Given the description of an element on the screen output the (x, y) to click on. 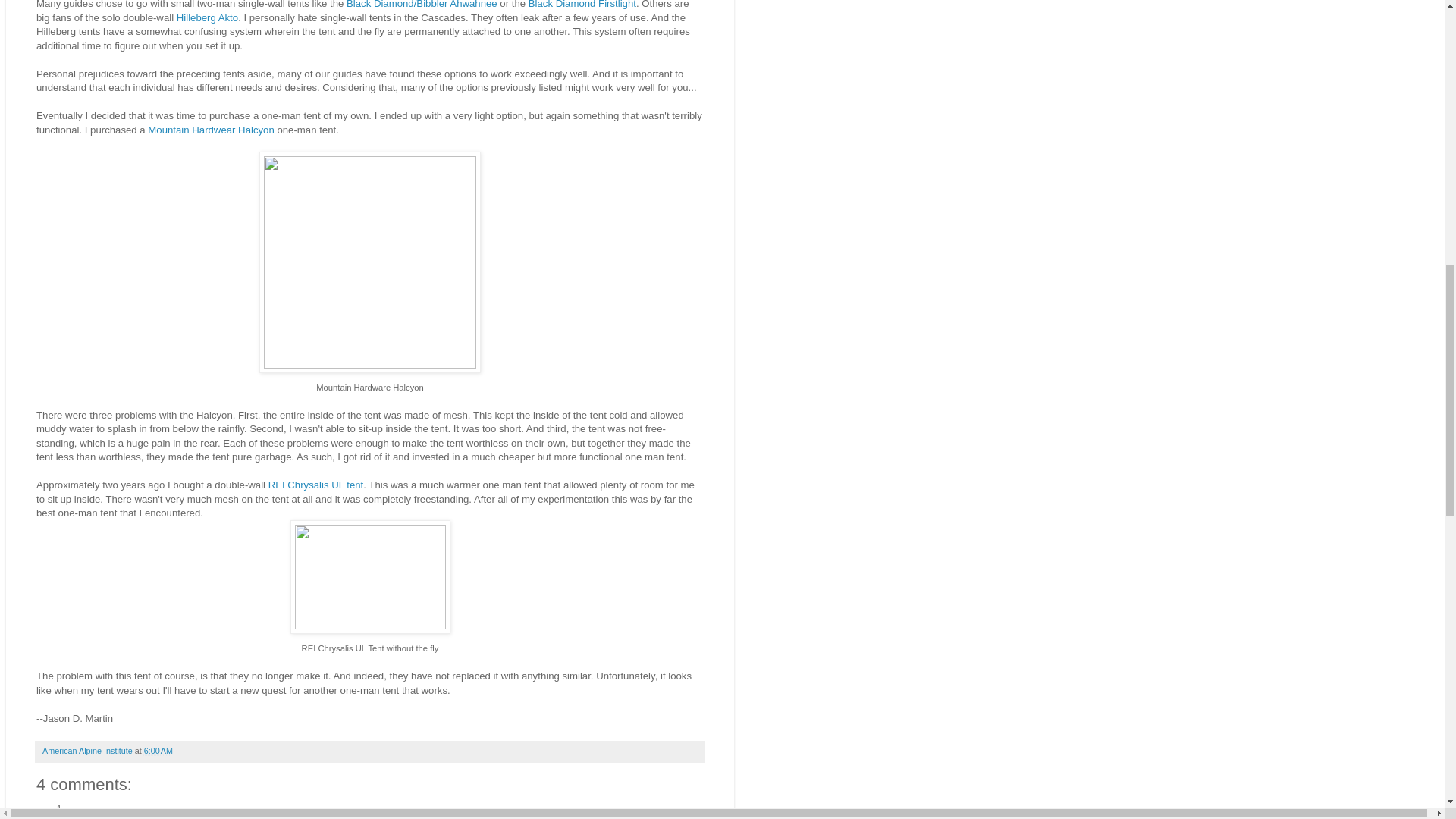
Hilleberg Akto (207, 17)
permanent link (158, 750)
Mountain Hardwear Halc (202, 129)
yon (265, 129)
American Alpine Institute (88, 750)
Black Diamond Firstlight (582, 4)
author profile (88, 750)
REI Chrysalis UL tent (315, 484)
